Given the description of an element on the screen output the (x, y) to click on. 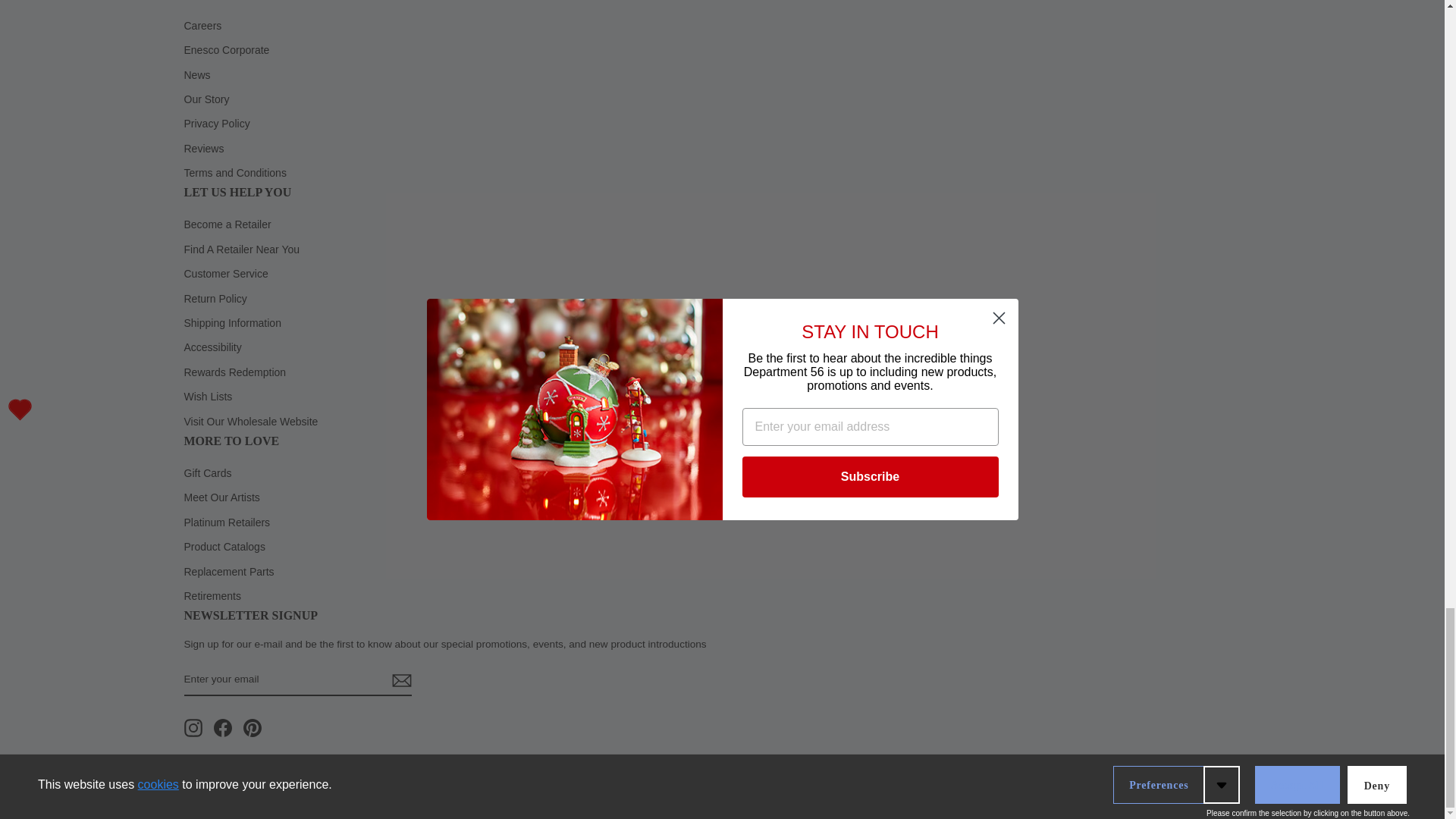
Department 56 on Facebook (222, 728)
Department 56 on Instagram (192, 728)
Department 56 on Pinterest (251, 728)
